Given the description of an element on the screen output the (x, y) to click on. 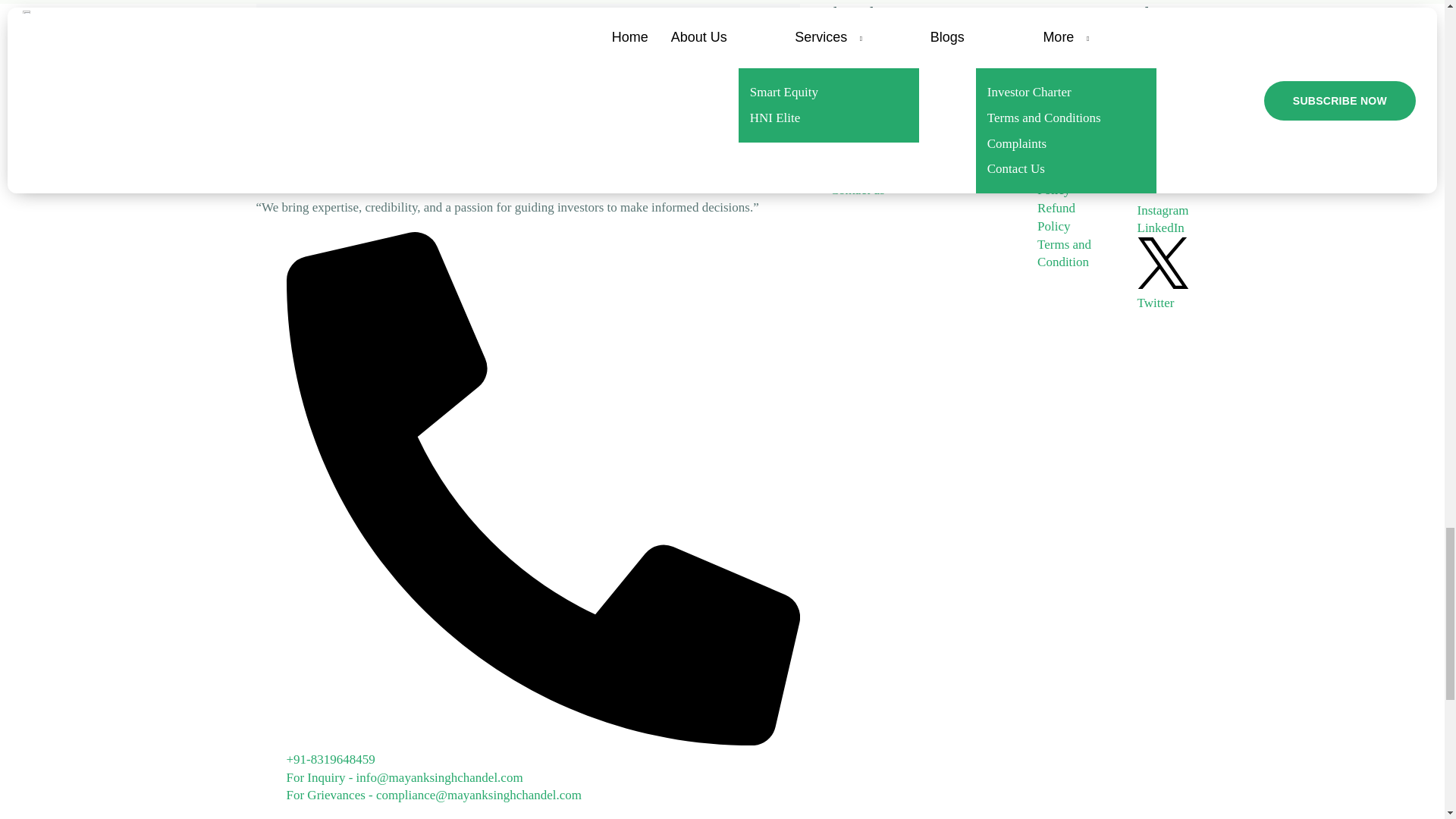
Disclaimer (1065, 45)
Equity Cash (952, 45)
About Us (854, 45)
Investor Charter (850, 72)
Contact us (857, 189)
Latest Blogs (845, 163)
Complaints (859, 99)
